Given the description of an element on the screen output the (x, y) to click on. 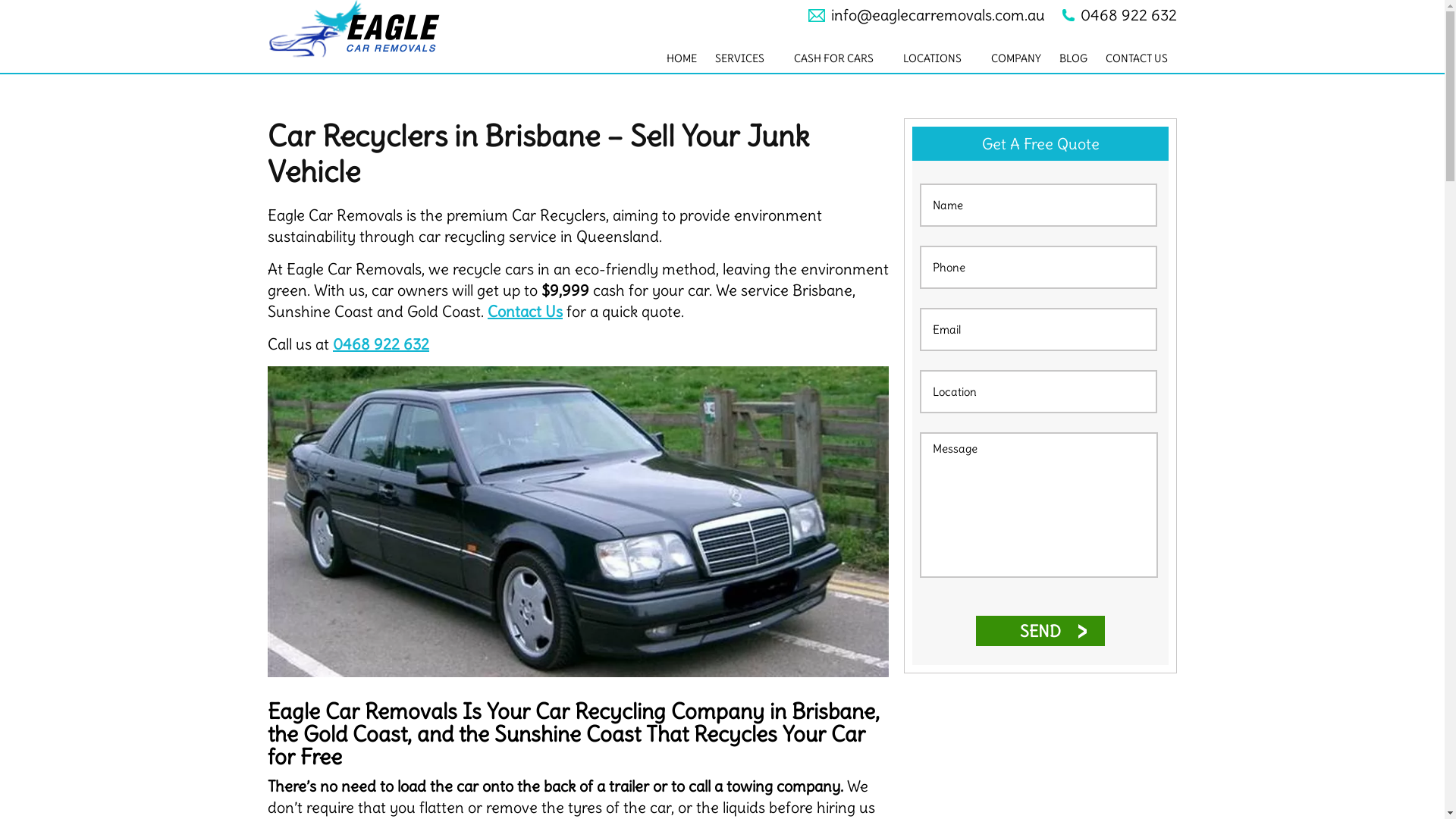
Contact Us Element type: text (524, 310)
0468 922 632 Element type: text (380, 343)
HOME Element type: text (681, 57)
BLOG Element type: text (1073, 57)
COMPANY Element type: text (1016, 57)
EAGLE
CAR REMOVALS Element type: text (368, 29)
car recyclers Element type: hover (577, 521)
CONTACT US Element type: text (1136, 57)
SERVICES Element type: text (745, 57)
info@eaglecarremovals.com.au Element type: text (926, 15)
0468 922 632 Element type: text (1118, 15)
LOCATIONS Element type: text (938, 57)
CASH FOR CARS Element type: text (839, 57)
Send Element type: text (1039, 630)
